Given the description of an element on the screen output the (x, y) to click on. 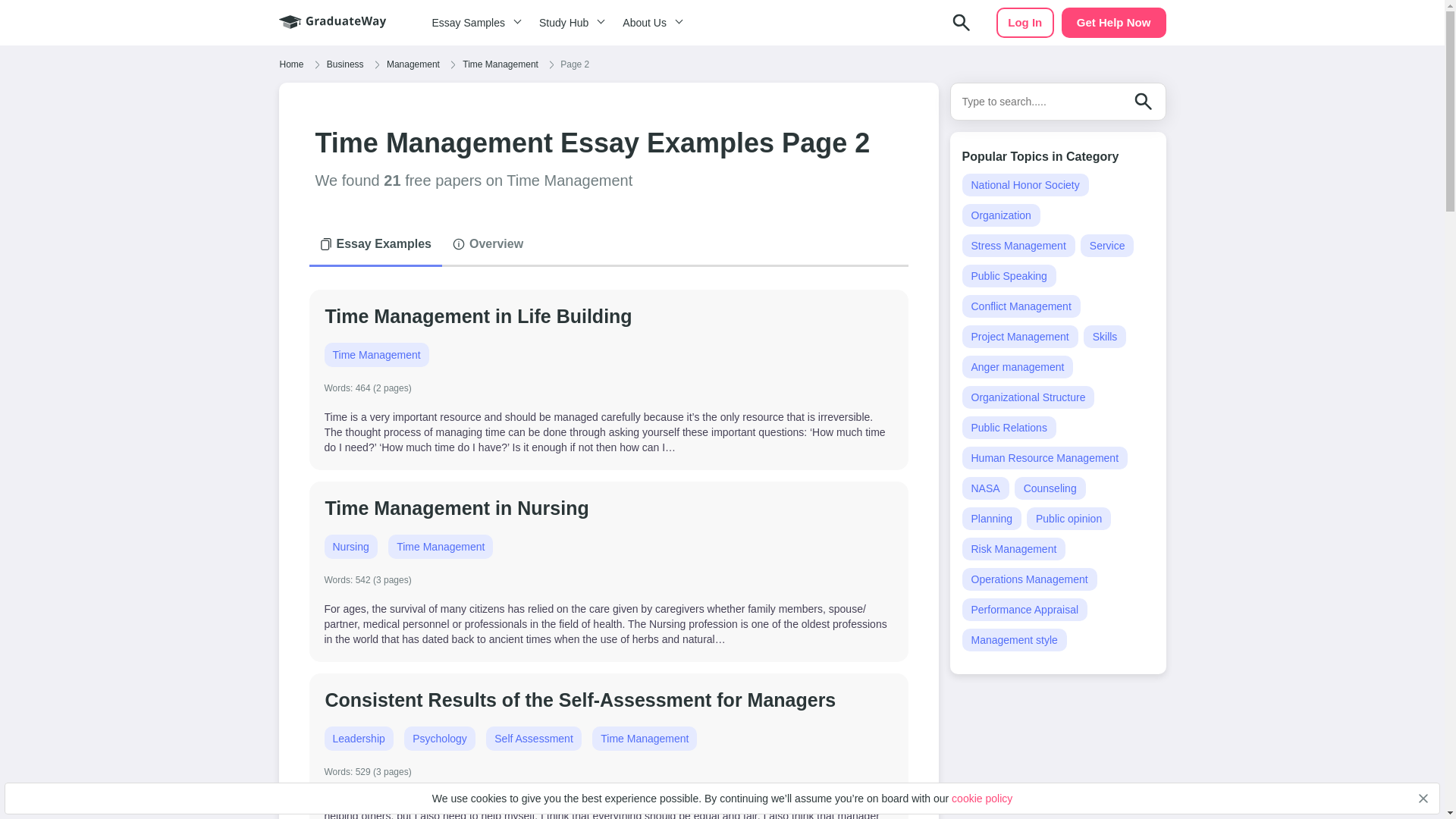
Time Management in Nursing (456, 507)
Business (345, 64)
About Us (649, 22)
Study Hub (569, 22)
Management (413, 64)
Essay Samples (473, 22)
Time Management (499, 64)
Home (291, 64)
Time Management in Life Building (478, 315)
